Given the description of an element on the screen output the (x, y) to click on. 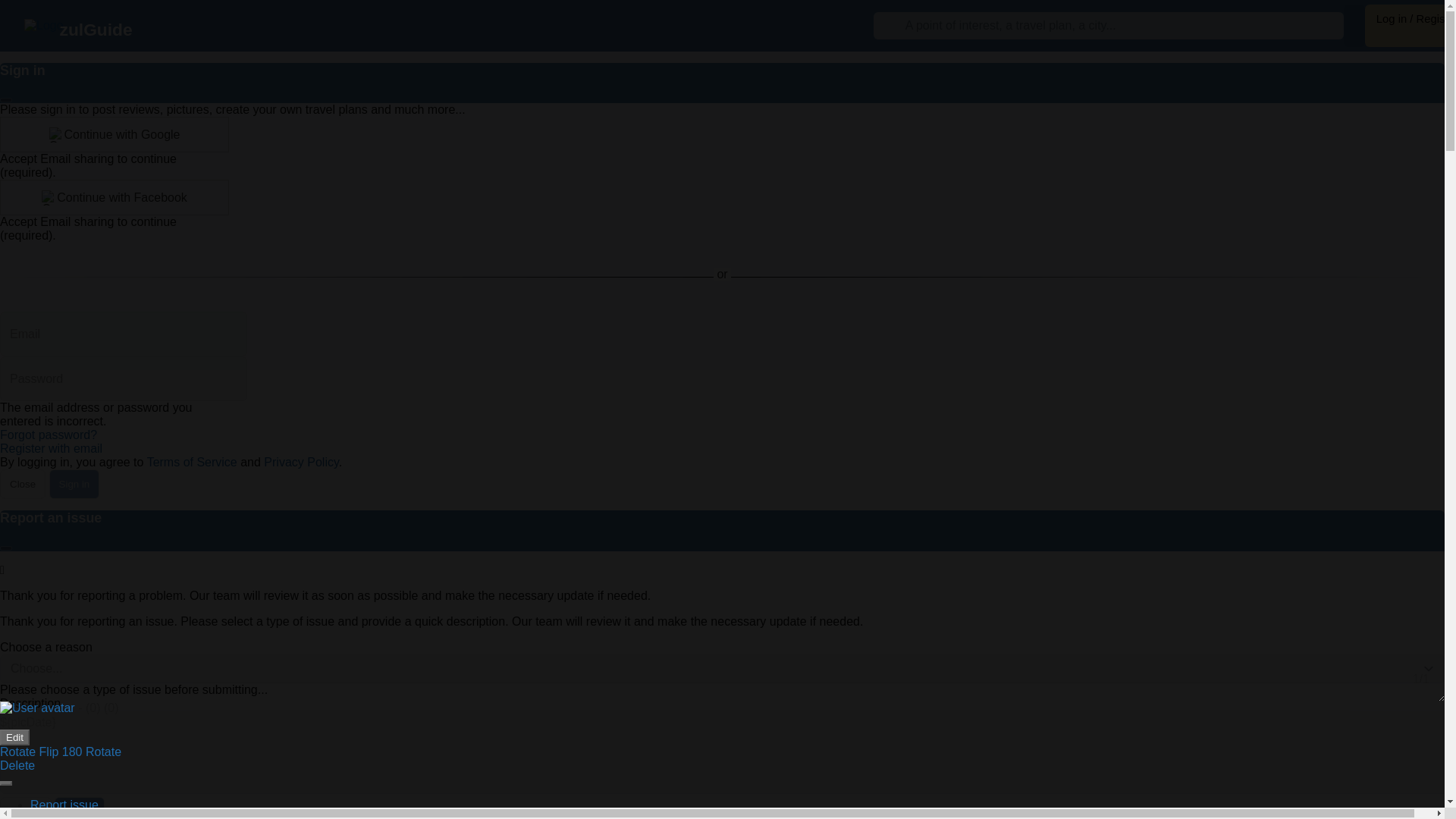
zulGuide (95, 29)
Continue with Google (114, 134)
Privacy Policy (300, 461)
Report (79, 807)
Close (22, 483)
Sign in (74, 483)
Continue with Facebook (114, 197)
Forgot password? (48, 434)
Register with email (50, 448)
Go back to homepage (44, 25)
